Given the description of an element on the screen output the (x, y) to click on. 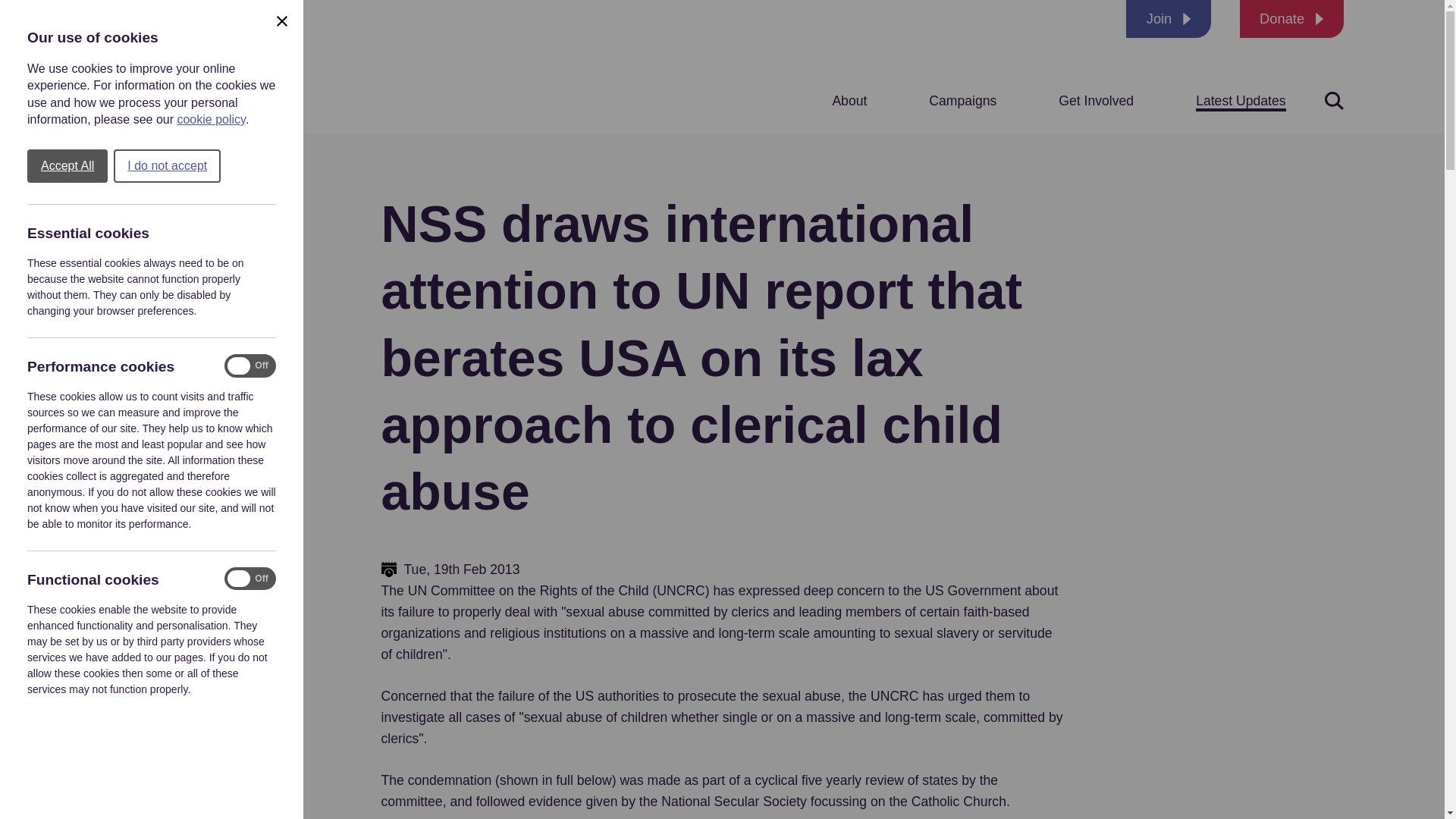
Latest Updates (1240, 100)
cookie policy (210, 119)
Donate (1291, 18)
Get Involved (1096, 100)
About (848, 100)
Join (1167, 18)
Click to show search (1332, 100)
Logo (192, 66)
Accept All (67, 165)
I do not accept (167, 165)
Campaigns (961, 100)
